Given the description of an element on the screen output the (x, y) to click on. 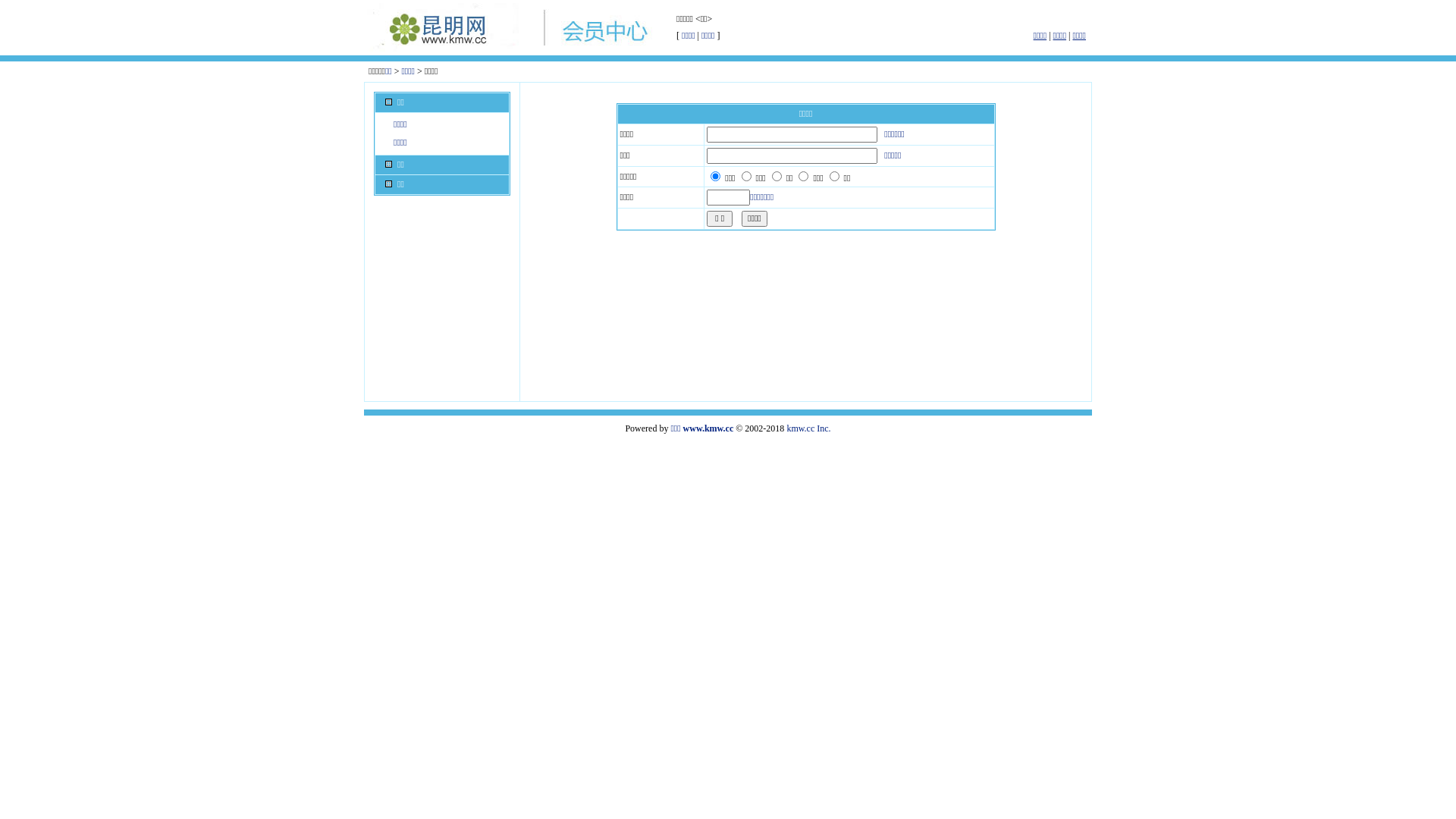
www.kmw.cc Element type: text (708, 428)
kmw.cc Inc. Element type: text (808, 428)
